Given the description of an element on the screen output the (x, y) to click on. 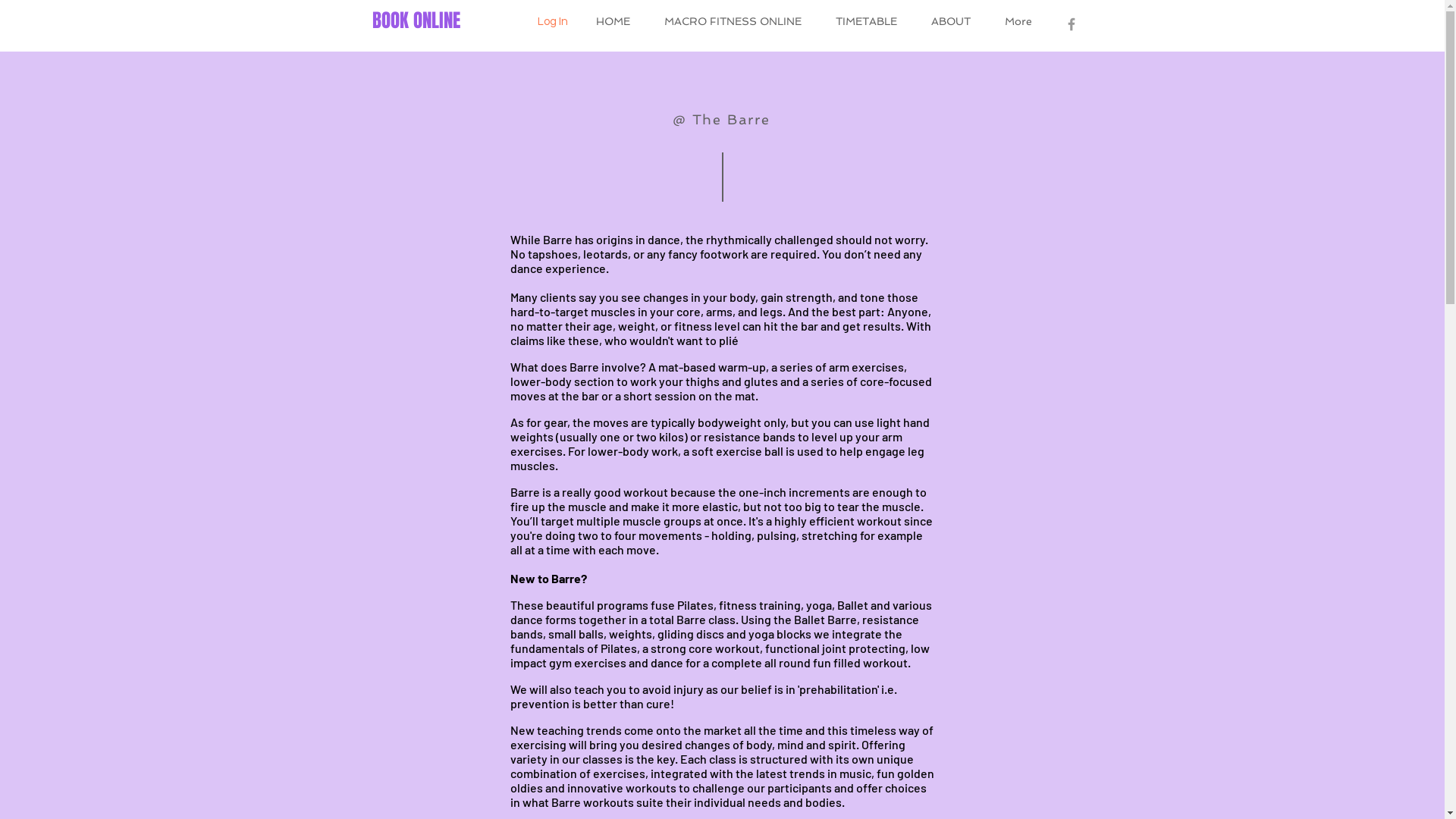
MACRO FITNESS ONLINE Element type: text (733, 20)
BOOK ONLINE Element type: text (415, 20)
HOME Element type: text (611, 20)
Log In Element type: text (551, 21)
TIMETABLE Element type: text (866, 20)
ABOUT Element type: text (951, 20)
